Given the description of an element on the screen output the (x, y) to click on. 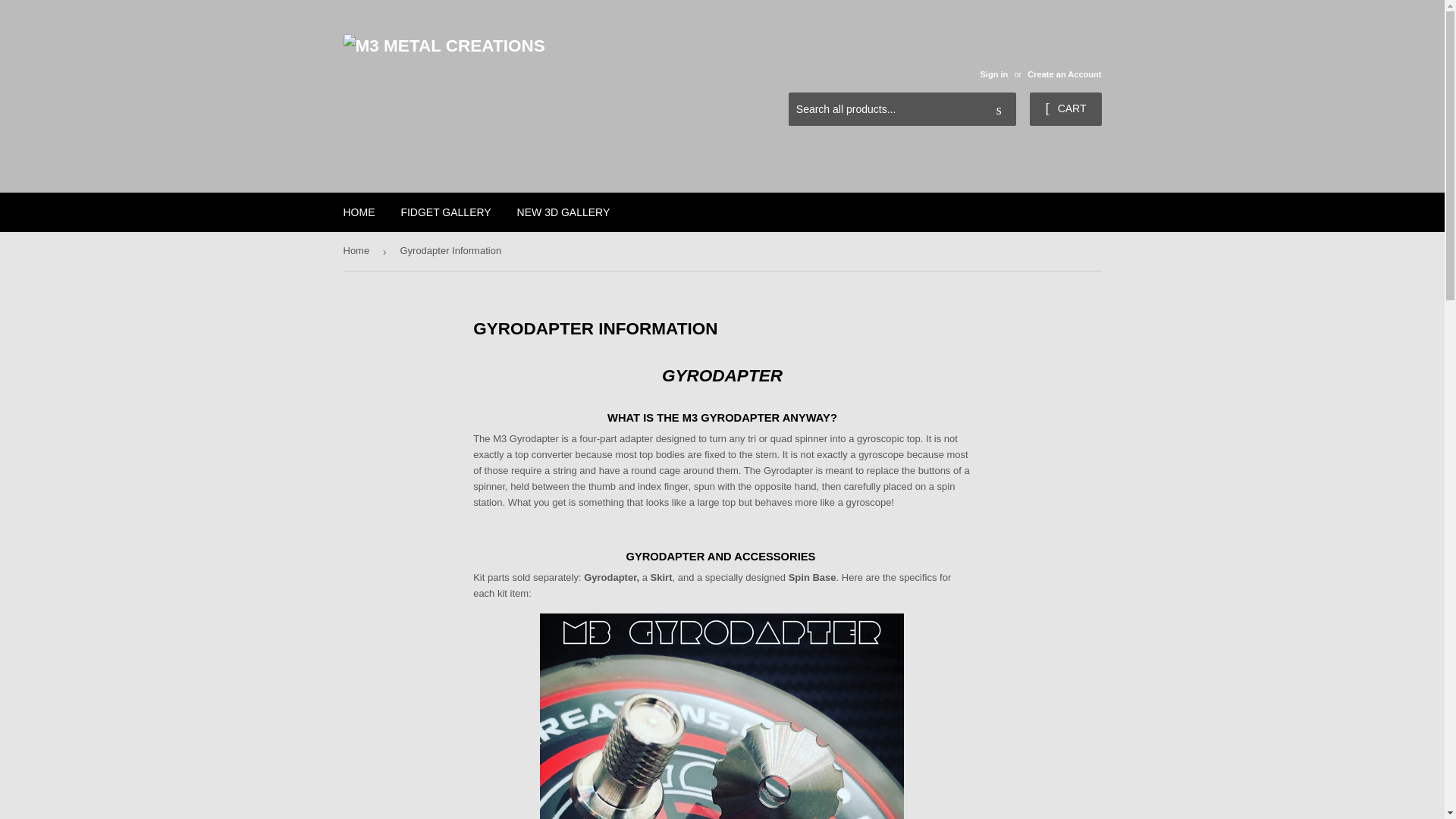
Sign in (993, 73)
NEW 3D GALLERY (563, 211)
HOME (359, 211)
Create an Account (1063, 73)
CART (1064, 109)
FIDGET GALLERY (445, 211)
Search (998, 110)
